Given the description of an element on the screen output the (x, y) to click on. 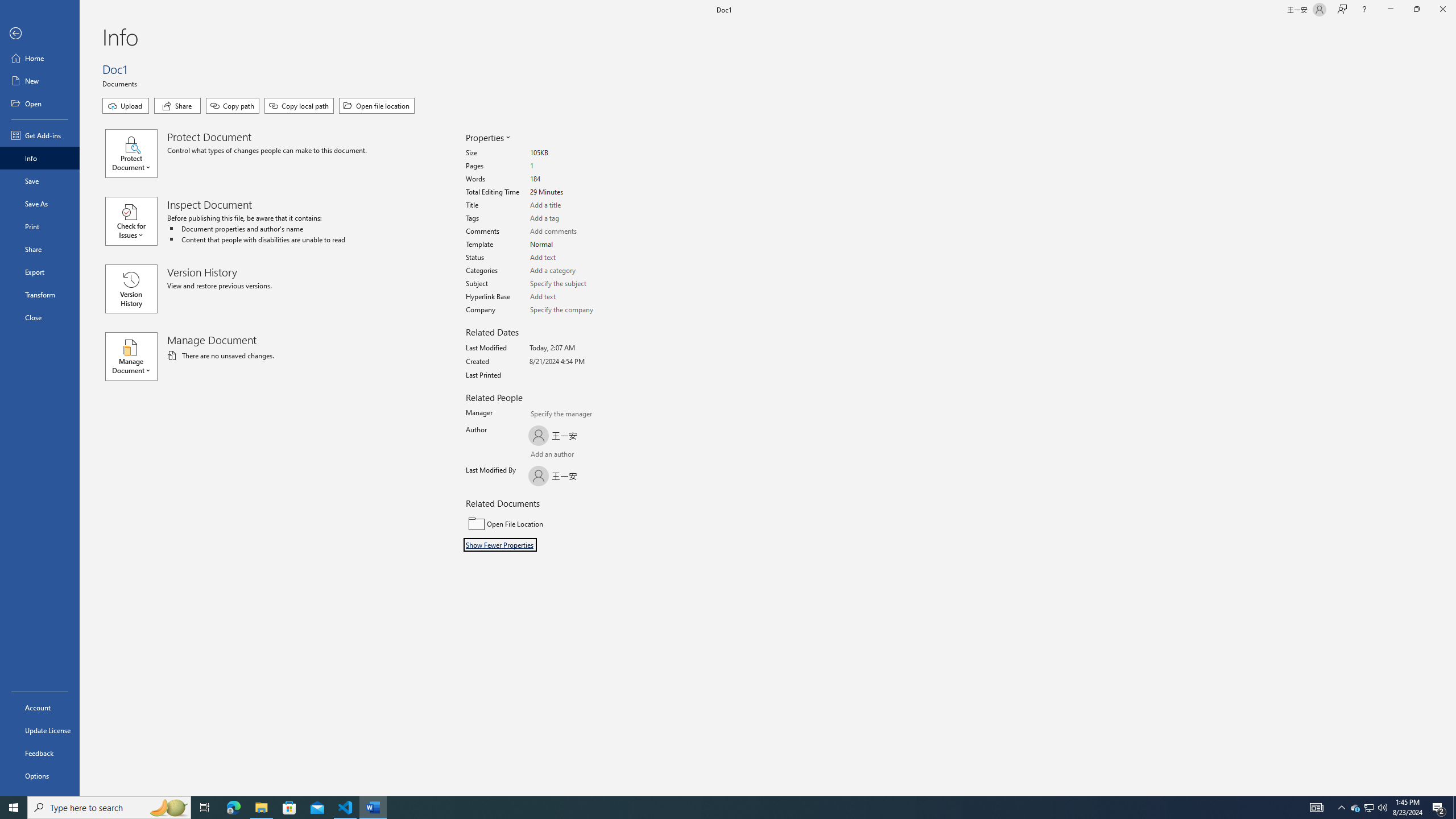
Save (40, 180)
Close (1442, 9)
Browse Address Book (595, 455)
Categories (572, 270)
Update License (40, 730)
Help (1364, 9)
Show Fewer Properties (499, 544)
Status (572, 257)
Title (572, 205)
Hyperlink Base (572, 296)
